Given the description of an element on the screen output the (x, y) to click on. 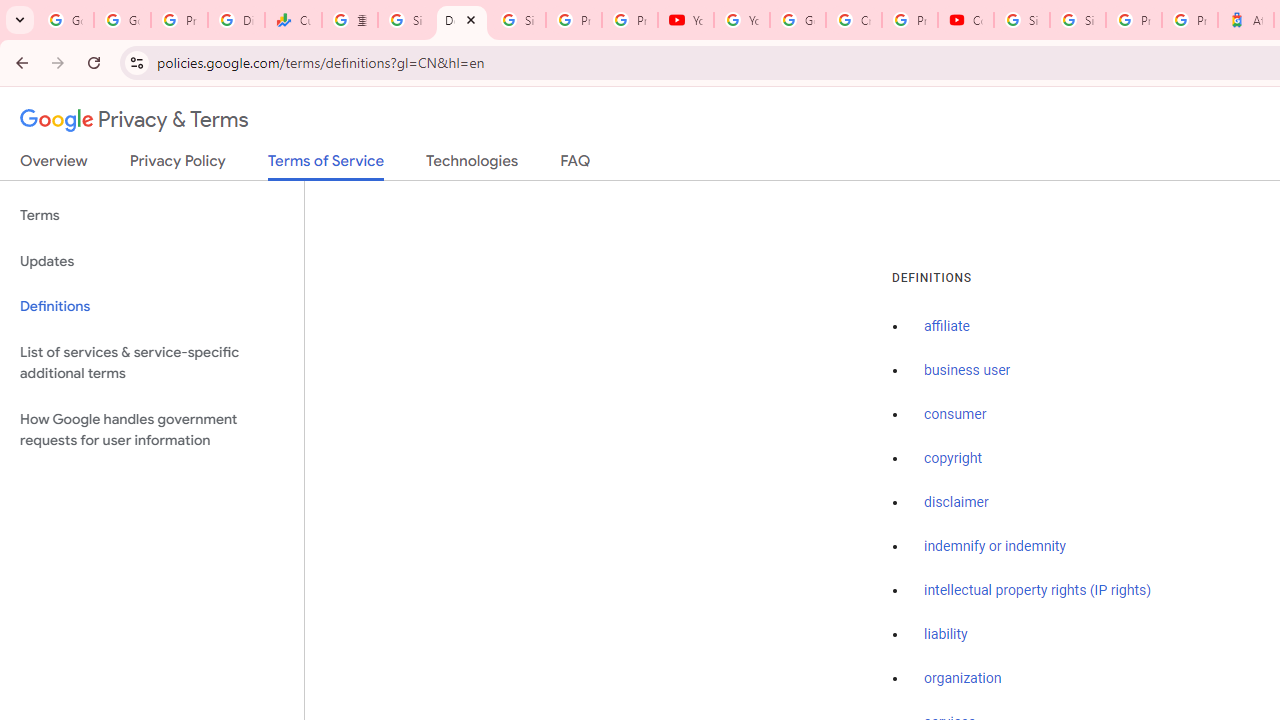
liability (945, 634)
Privacy Checkup (629, 20)
organization (963, 679)
Sign in - Google Accounts (518, 20)
copyright (952, 459)
Updates (152, 261)
Sign in - Google Accounts (1077, 20)
How Google handles government requests for user information (152, 429)
